Given the description of an element on the screen output the (x, y) to click on. 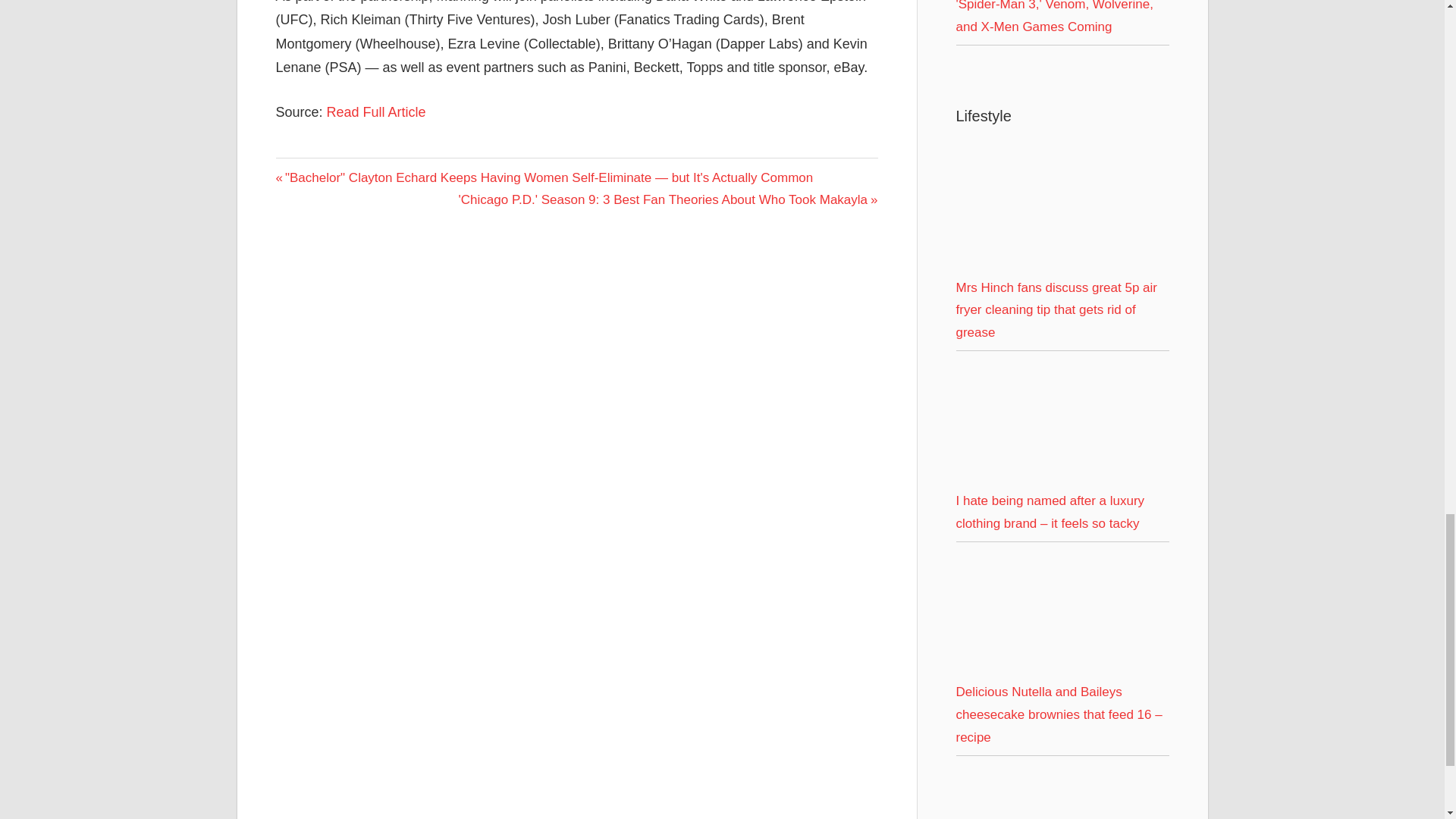
Read Full Article (376, 111)
LIFESTYLE (312, 171)
